Given the description of an element on the screen output the (x, y) to click on. 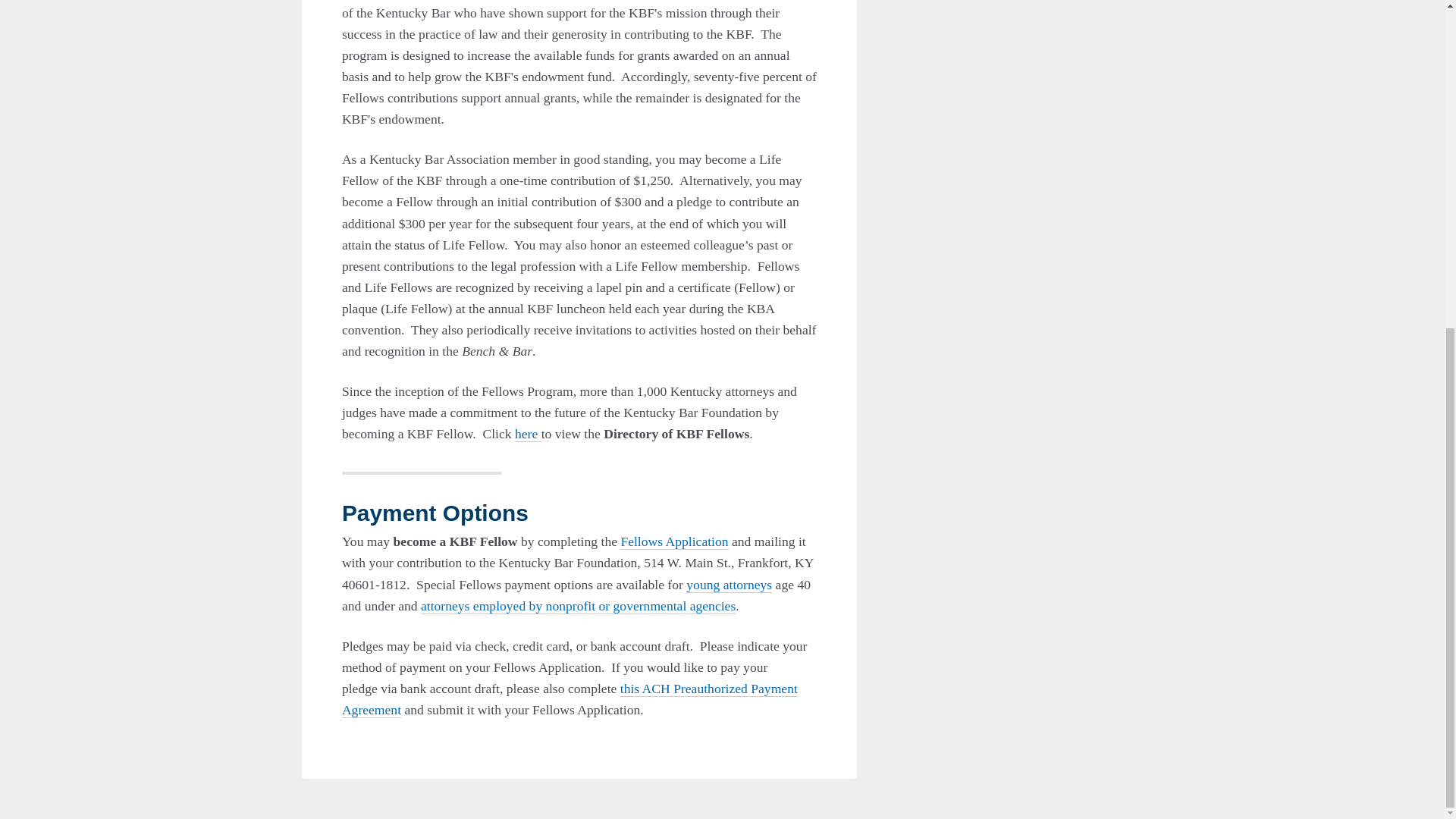
here (528, 433)
this ACH Preauthorized Payment Agreement (569, 699)
Fellows Application (674, 541)
young attorneys (728, 584)
attorneys employed by nonprofit or governmental agencies (577, 606)
